Given the description of an element on the screen output the (x, y) to click on. 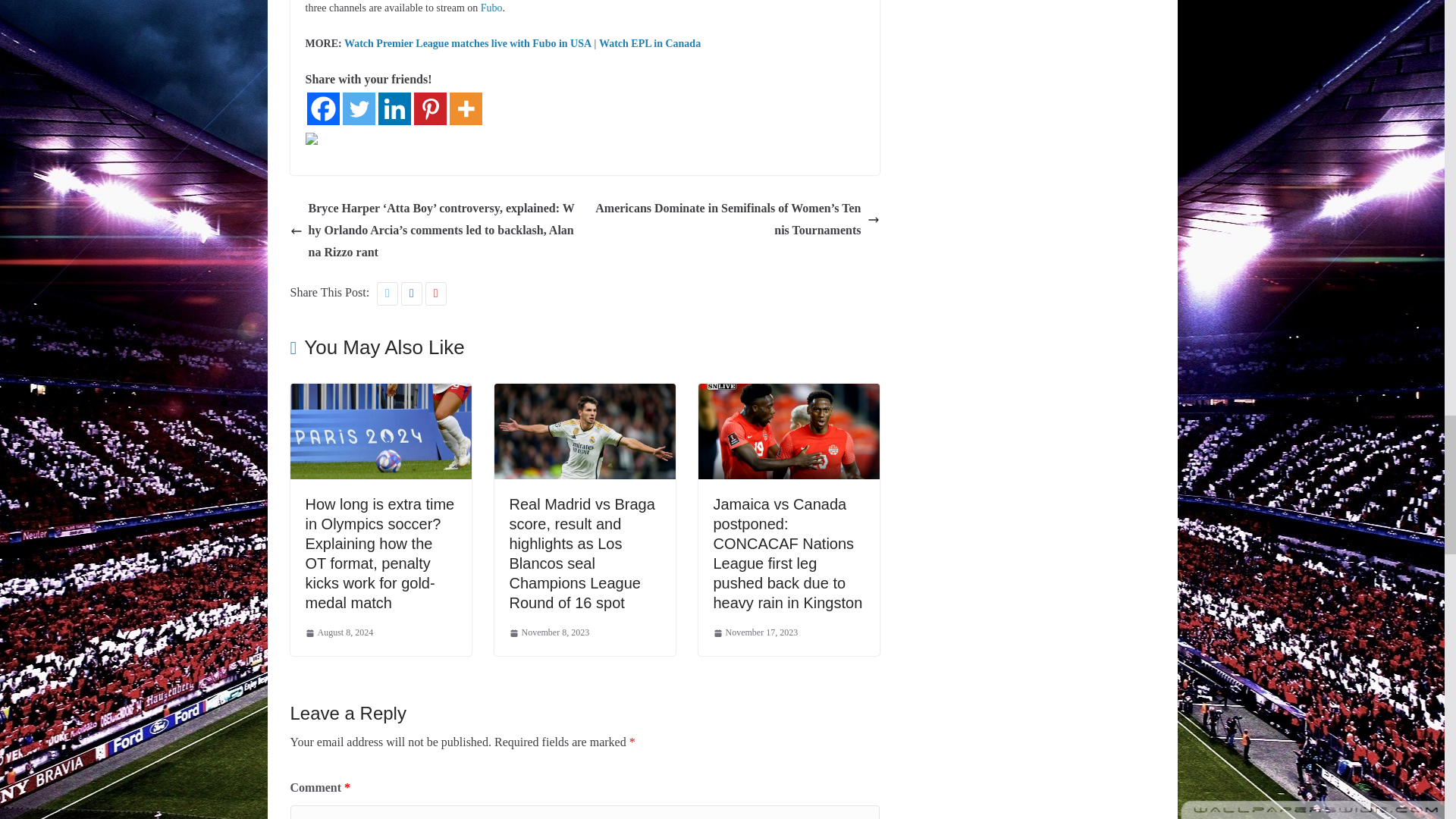
Twitter (358, 108)
Pinterest (429, 108)
Facebook (322, 108)
Linkedin (393, 108)
